Given the description of an element on the screen output the (x, y) to click on. 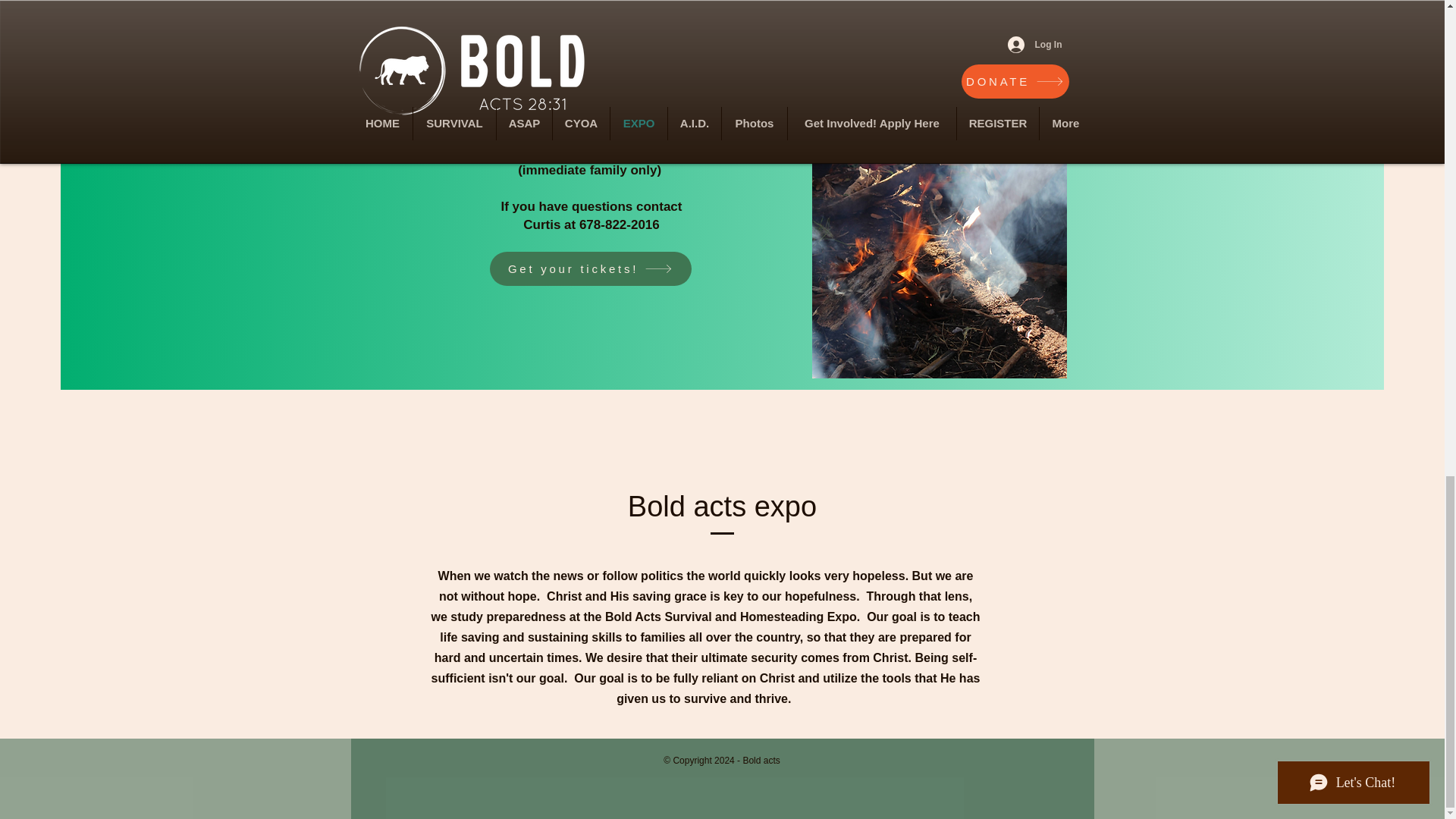
Get your tickets! (590, 268)
Facebook Like (722, 799)
